Given the description of an element on the screen output the (x, y) to click on. 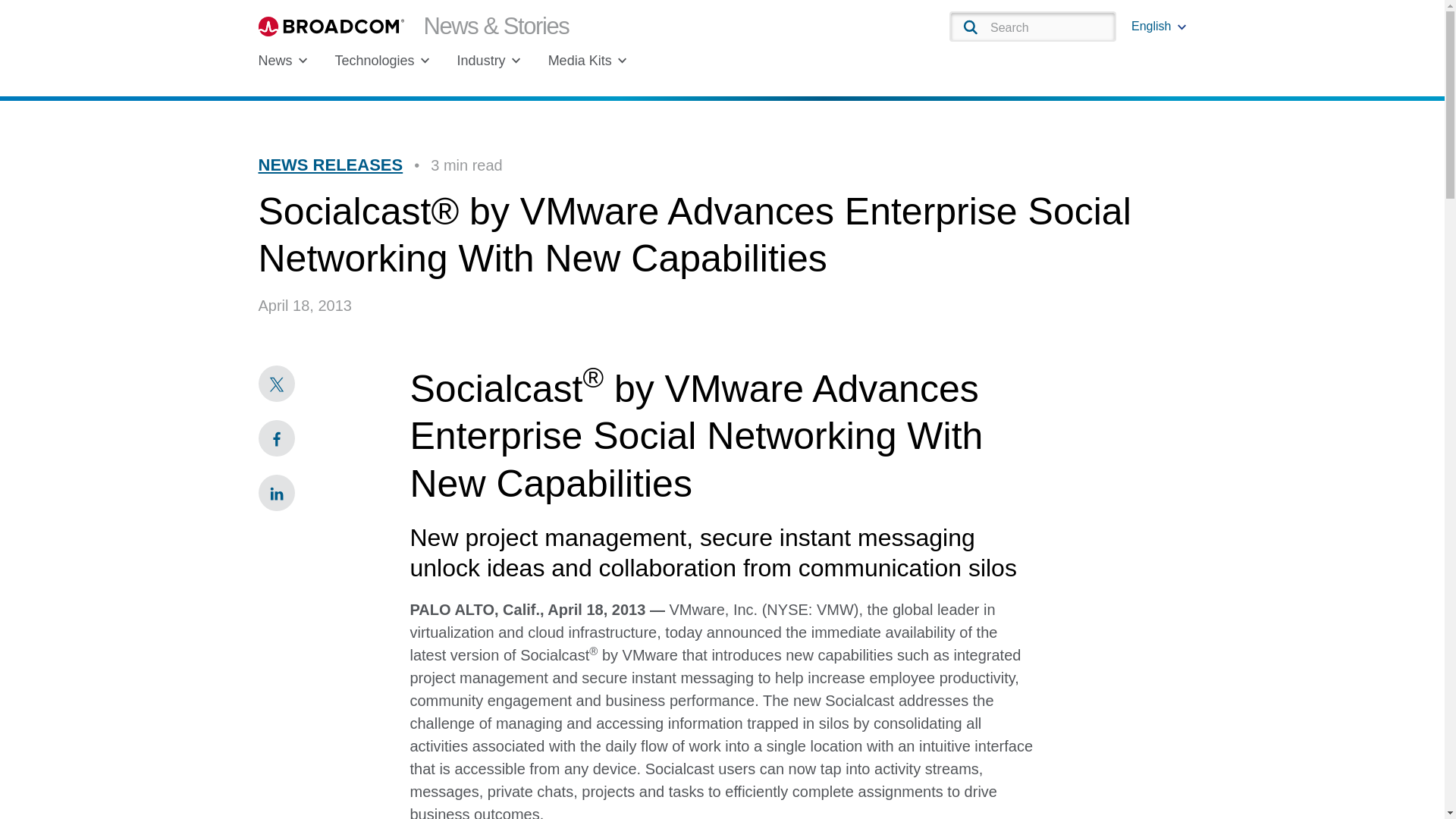
Chevron Down Icon (516, 60)
News (282, 60)
Industry (489, 60)
Chevron Down Icon (302, 60)
Chevron Down Icon (1181, 27)
Broadcom News and Stories (413, 26)
Chevron Down Icon (424, 60)
Open Language Settings (1158, 26)
Chevron Down Icon (622, 60)
Media Kits (587, 60)
